Given the description of an element on the screen output the (x, y) to click on. 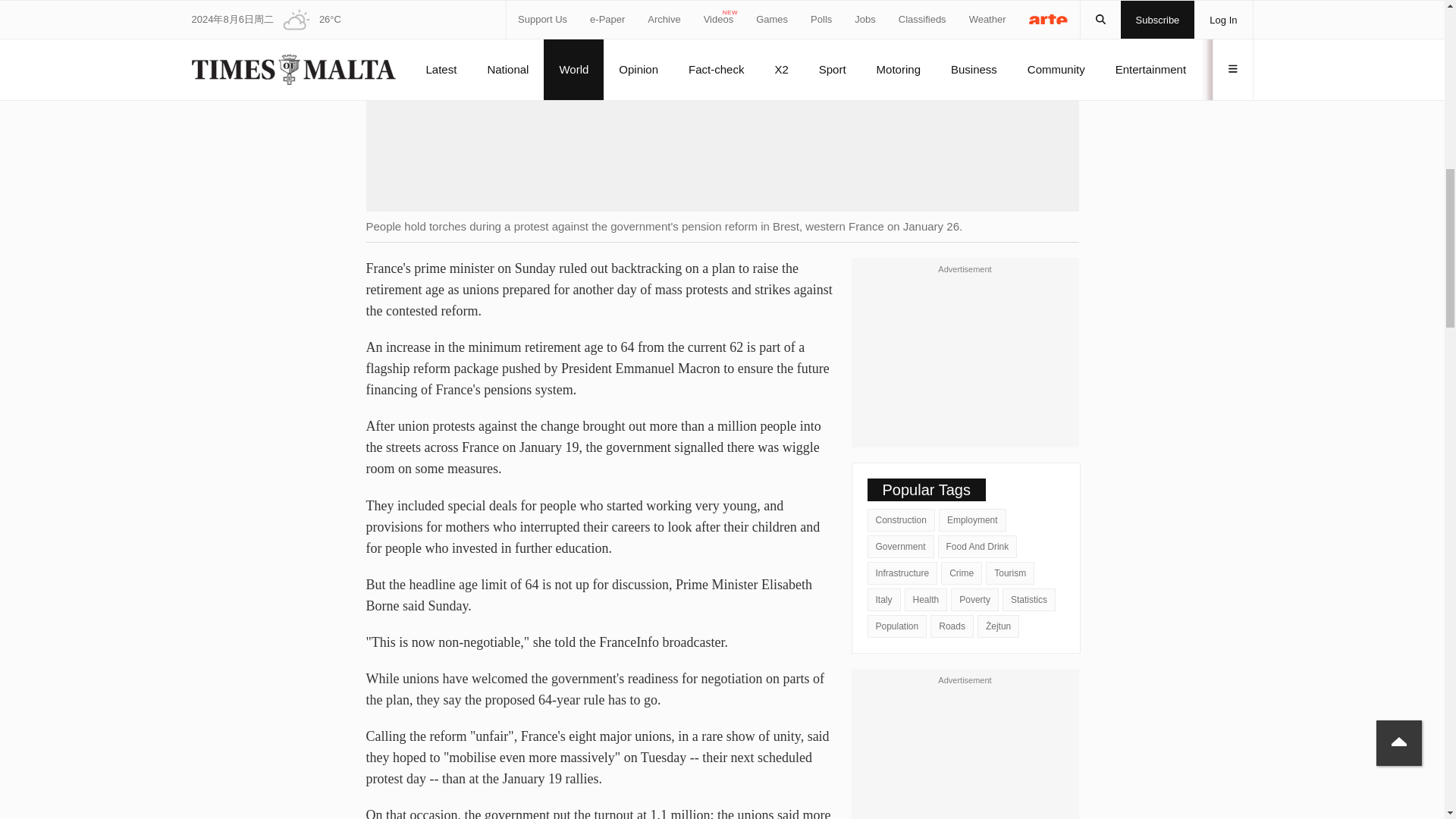
Food And Drink (977, 546)
Employment (972, 519)
Construction (900, 519)
Government (900, 546)
